Given the description of an element on the screen output the (x, y) to click on. 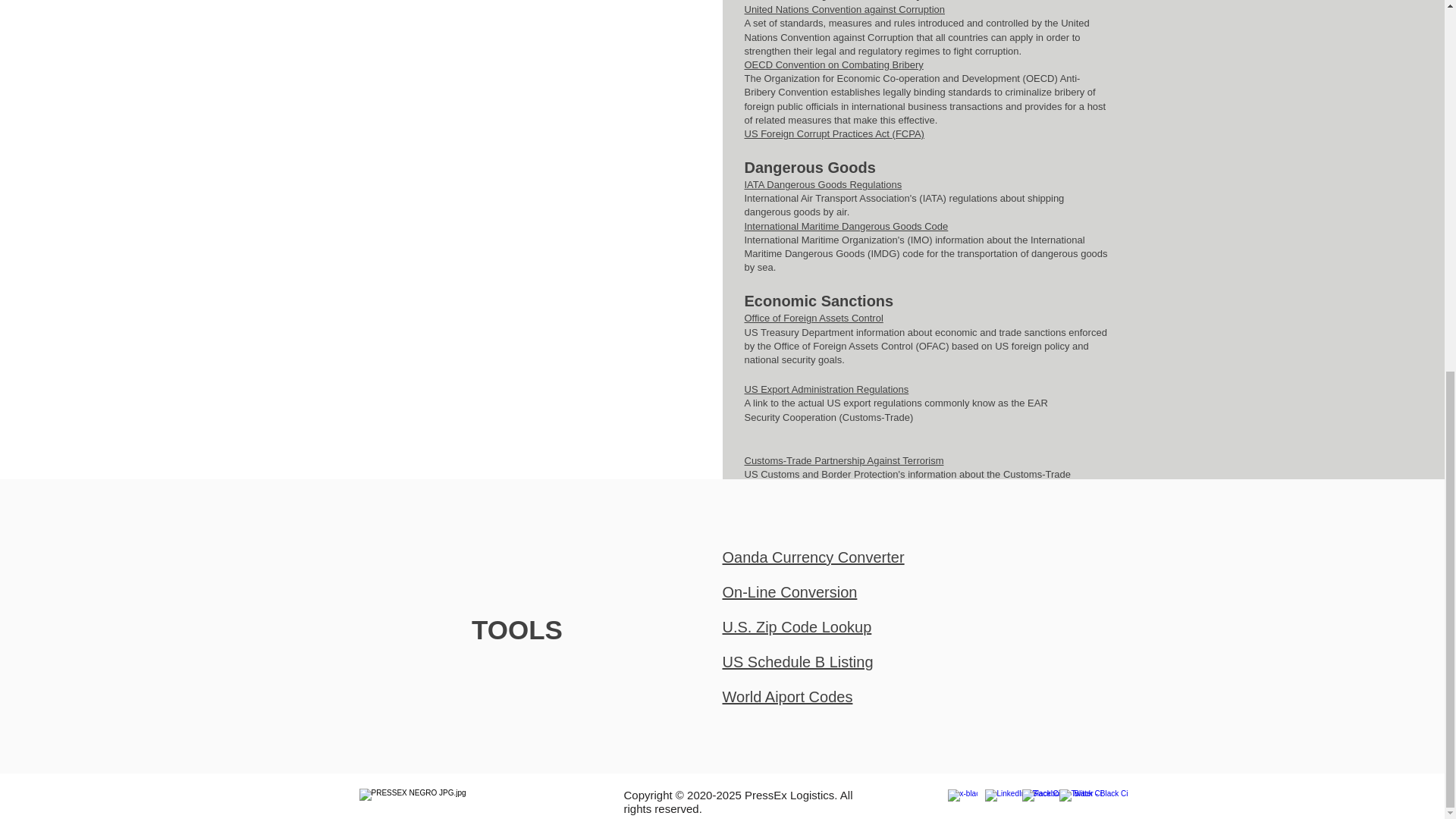
US Export Administration Regulations (826, 389)
IATA Dangerous Goods Regulations (823, 184)
OECD Convention on Combating Bribery (833, 64)
United Nations Convention against Corruption (844, 9)
Office of Foreign Assets Control (813, 317)
Oanda Currency Converter (813, 556)
Customs-Trade Partnership Against Terrorism (843, 460)
International Maritime Dangerous Goods Code (846, 225)
